Given the description of an element on the screen output the (x, y) to click on. 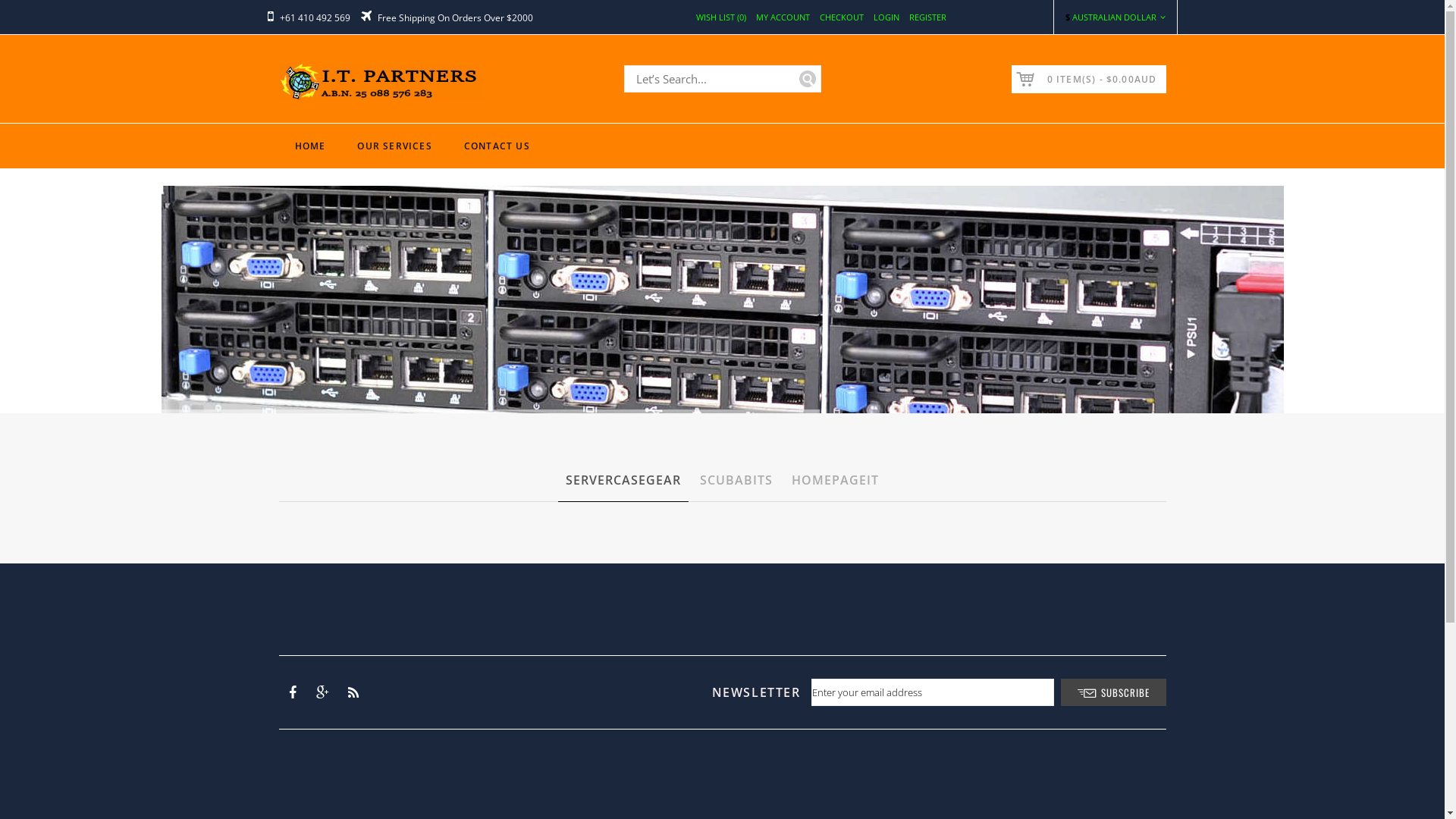
HOME Element type: text (310, 145)
REGISTER Element type: text (926, 16)
MY ACCOUNT Element type: text (782, 16)
CHECKOUT Element type: text (840, 16)
$ AUSTRALIAN DOLLAR Element type: text (1114, 17)
CONTACT US Element type: text (497, 145)
LOGIN Element type: text (886, 16)
IT Partners (Int'l) Pty Ltd Element type: hover (381, 81)
WISH LIST (0) Element type: text (721, 16)
SUBSCRIBE Element type: text (1112, 692)
OUR SERVICES Element type: text (394, 145)
